Given the description of an element on the screen output the (x, y) to click on. 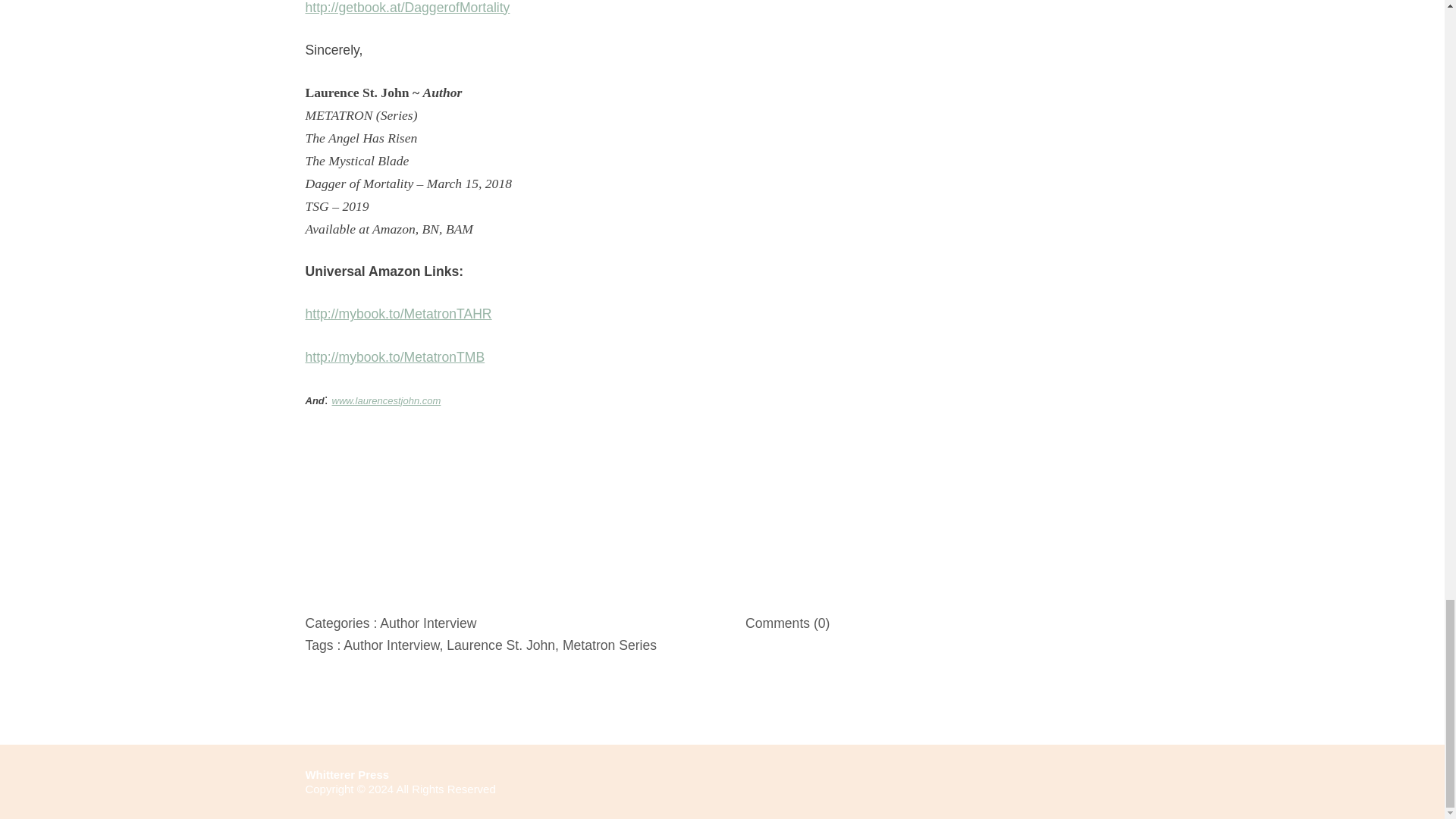
Author Interview (428, 622)
Laurence St. John (500, 645)
Metatron Series (609, 645)
www.laurencestjohn.com (386, 400)
Author Interview (391, 645)
